Given the description of an element on the screen output the (x, y) to click on. 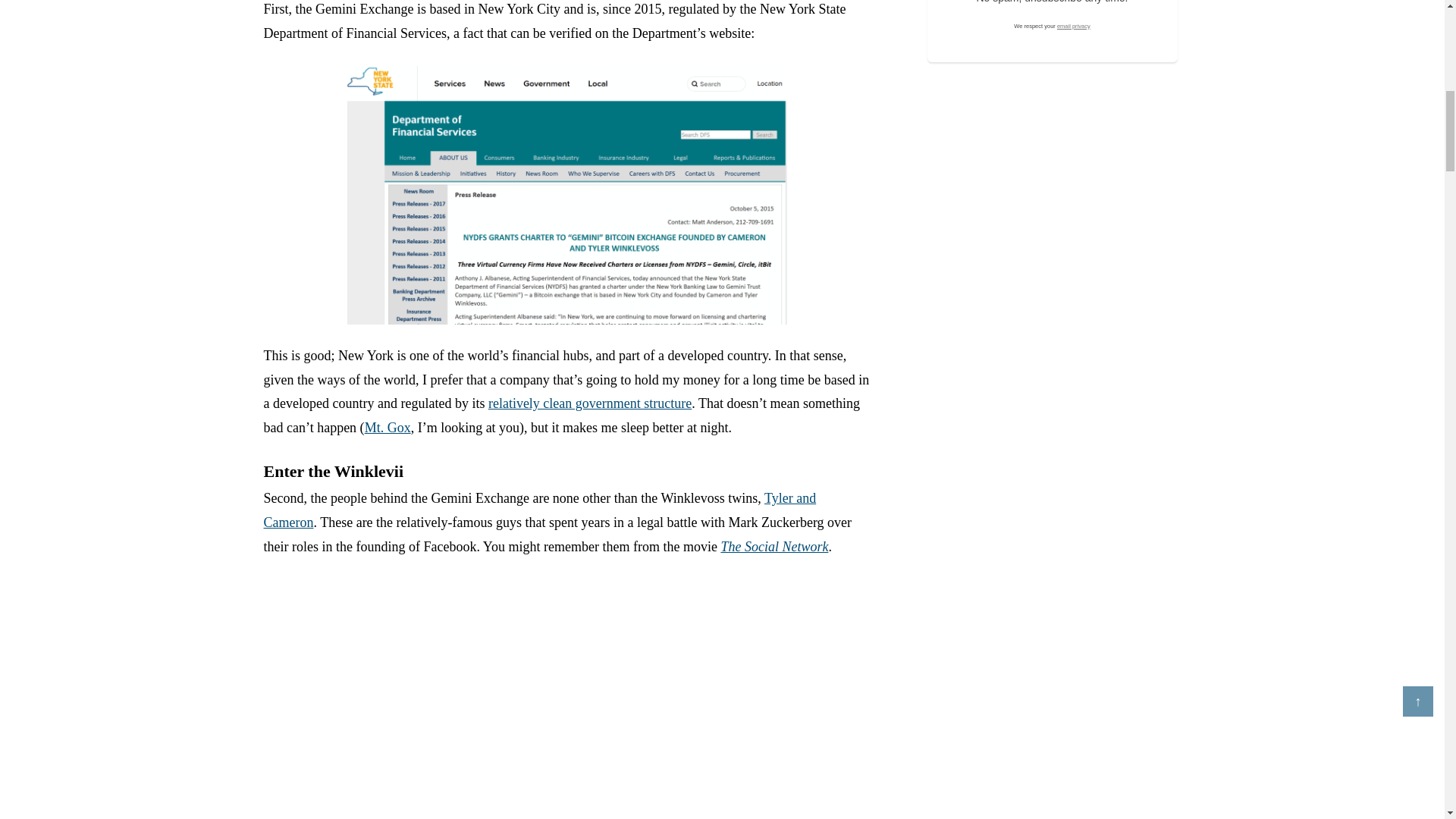
Tyler and Cameron (539, 509)
Privacy Policy (1073, 25)
The Social Network (774, 546)
relatively clean government structure (589, 403)
Mt. Gox (387, 427)
